Given the description of an element on the screen output the (x, y) to click on. 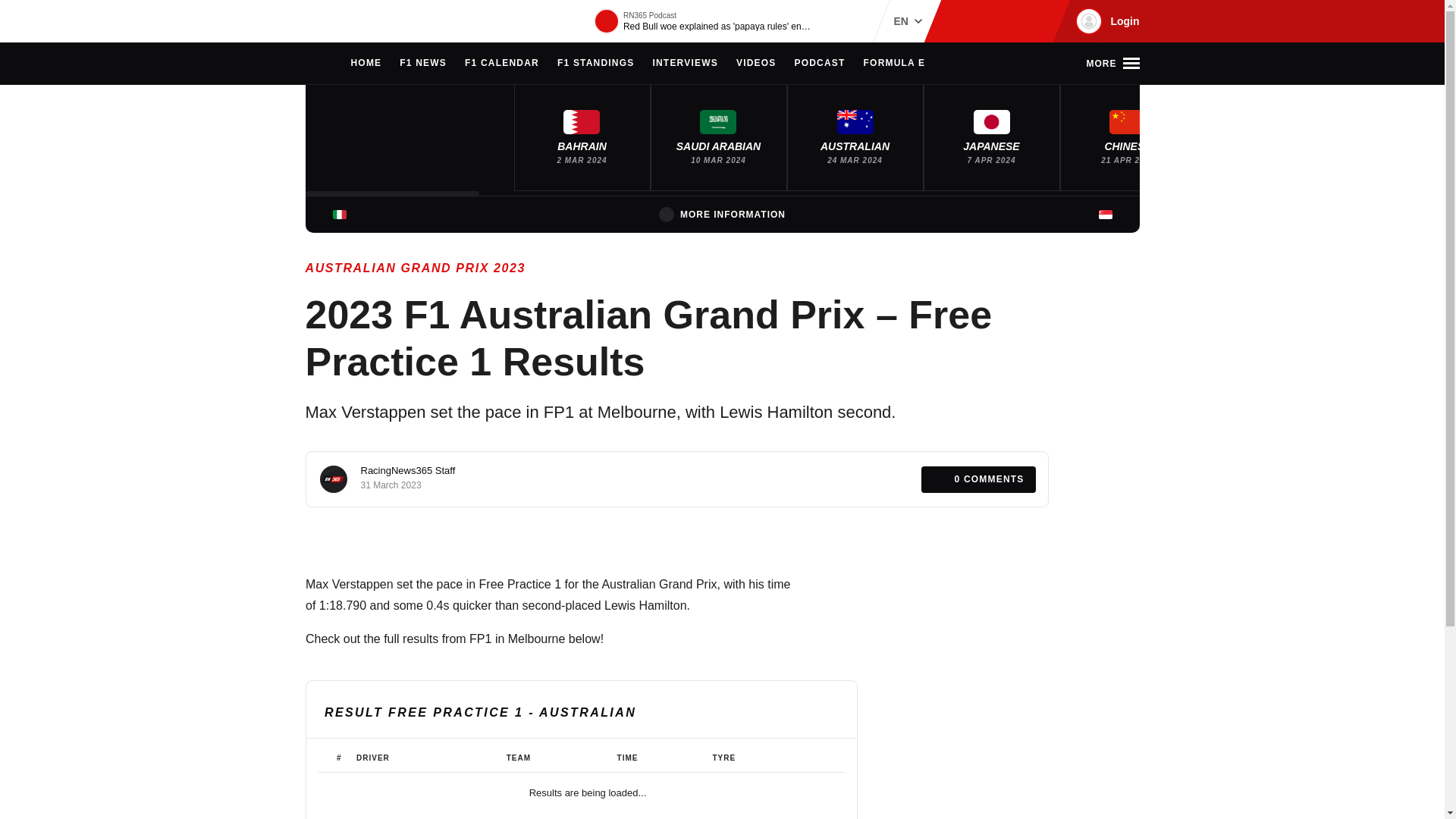
RacingNews365 on X (1010, 21)
F1 STANDINGS (595, 63)
MORE INFORMATION (722, 214)
RacingNews365 (350, 21)
RacingNews365 on Facebook (986, 21)
Friday 31 March 2023, 4:30AM (391, 484)
VIDEOS (756, 63)
RacingNews365 on Instagram (962, 21)
F1 NEWS (422, 63)
F1 CALENDAR (501, 63)
